Given the description of an element on the screen output the (x, y) to click on. 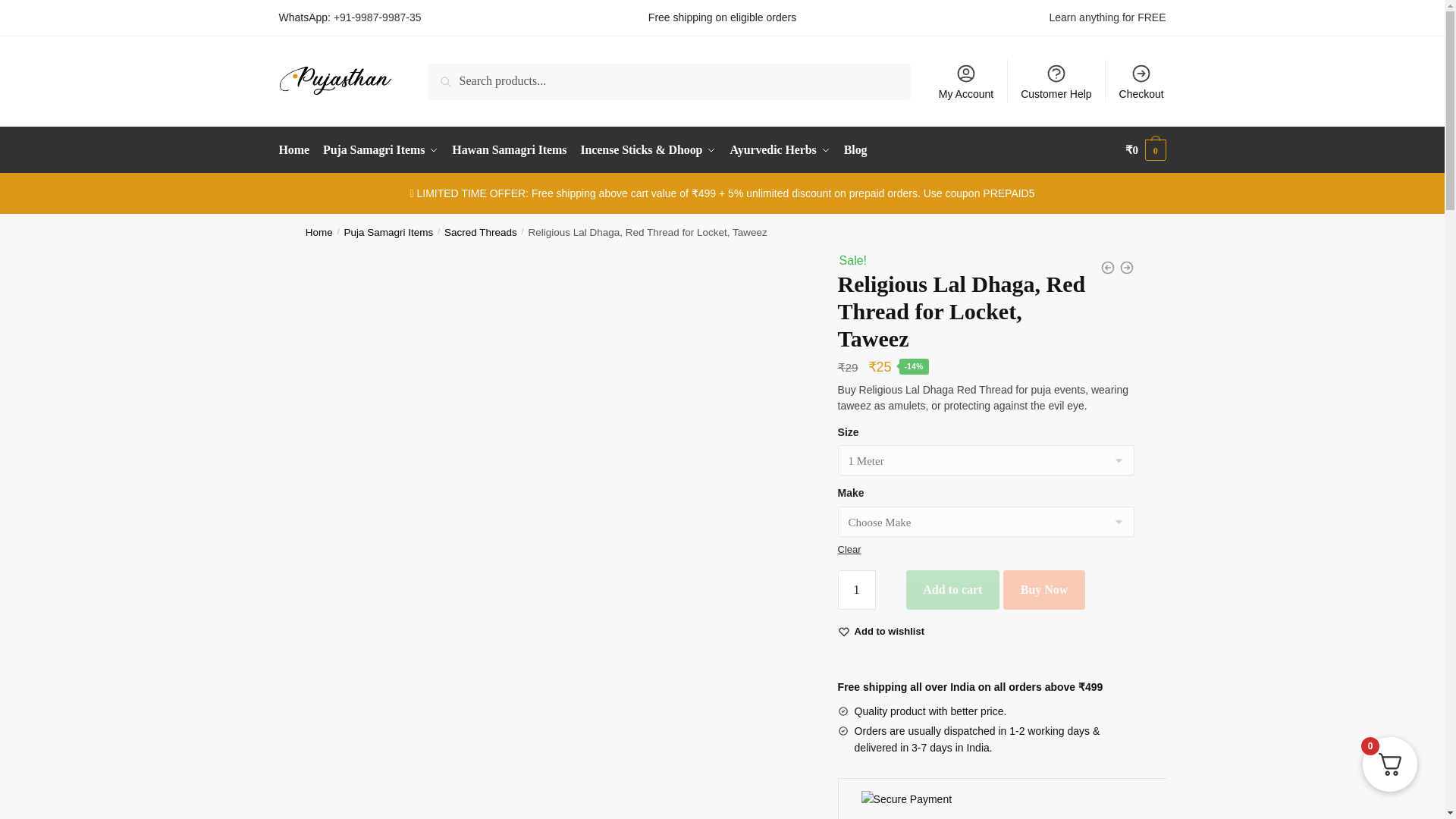
Customer Help (1055, 80)
Checkout (1141, 80)
Puja Samagri Items (380, 149)
Search (449, 74)
View your shopping cart (1145, 149)
Ayurvedic Herbs (780, 149)
1 (857, 589)
Learn anything for FREE (1107, 17)
My Account (966, 80)
Hawan Samagri Items (509, 149)
Wishlist (889, 631)
